Given the description of an element on the screen output the (x, y) to click on. 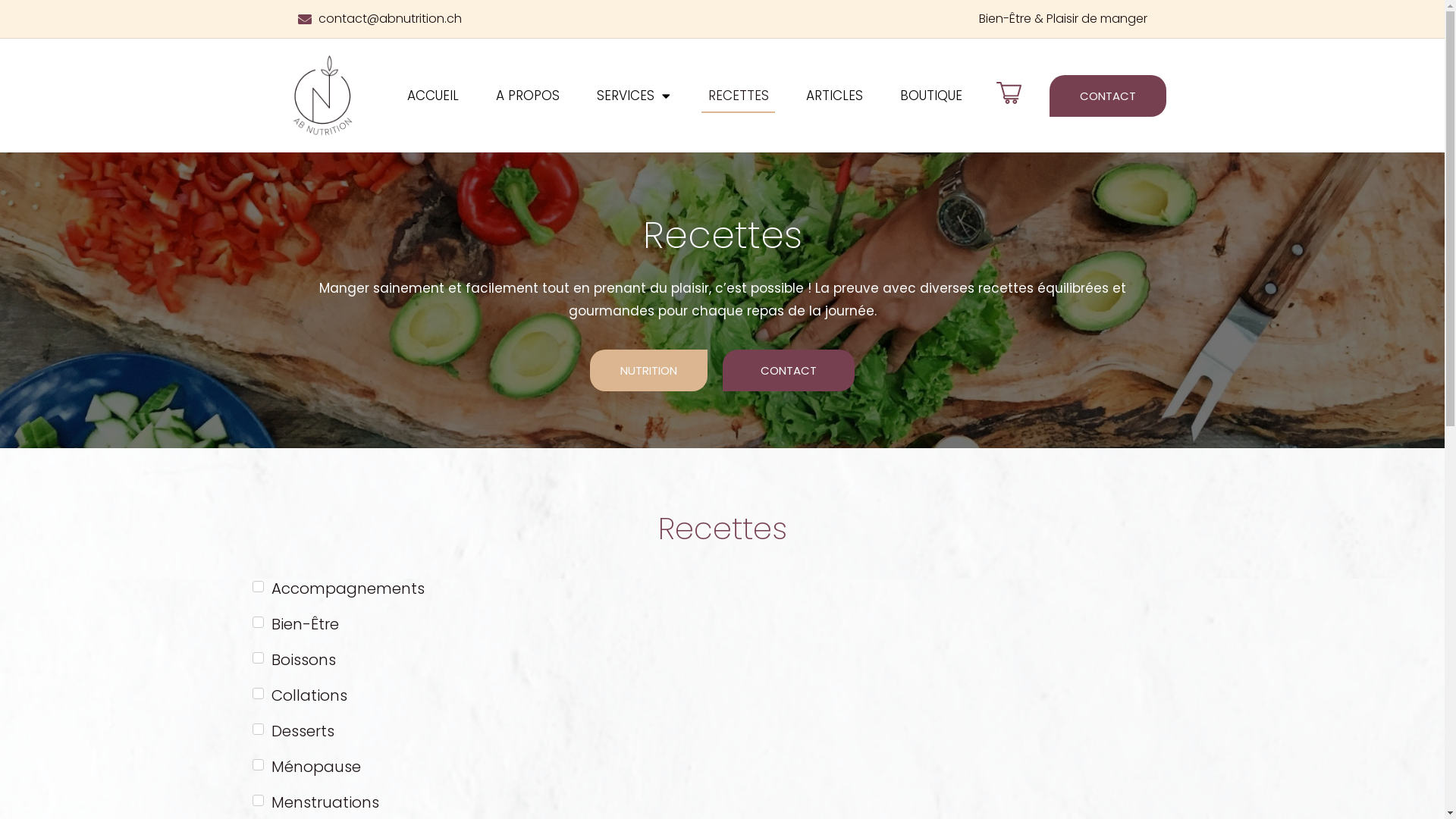
ACCUEIL Element type: text (432, 95)
contact@abnutrition.ch Element type: text (505, 18)
CONTACT Element type: text (1107, 95)
RECETTES Element type: text (737, 95)
SERVICES Element type: text (633, 95)
ARTICLES Element type: text (834, 95)
BOUTIQUE Element type: text (931, 95)
NUTRITION Element type: text (648, 370)
CONTACT Element type: text (788, 370)
A PROPOS Element type: text (527, 95)
